Given the description of an element on the screen output the (x, y) to click on. 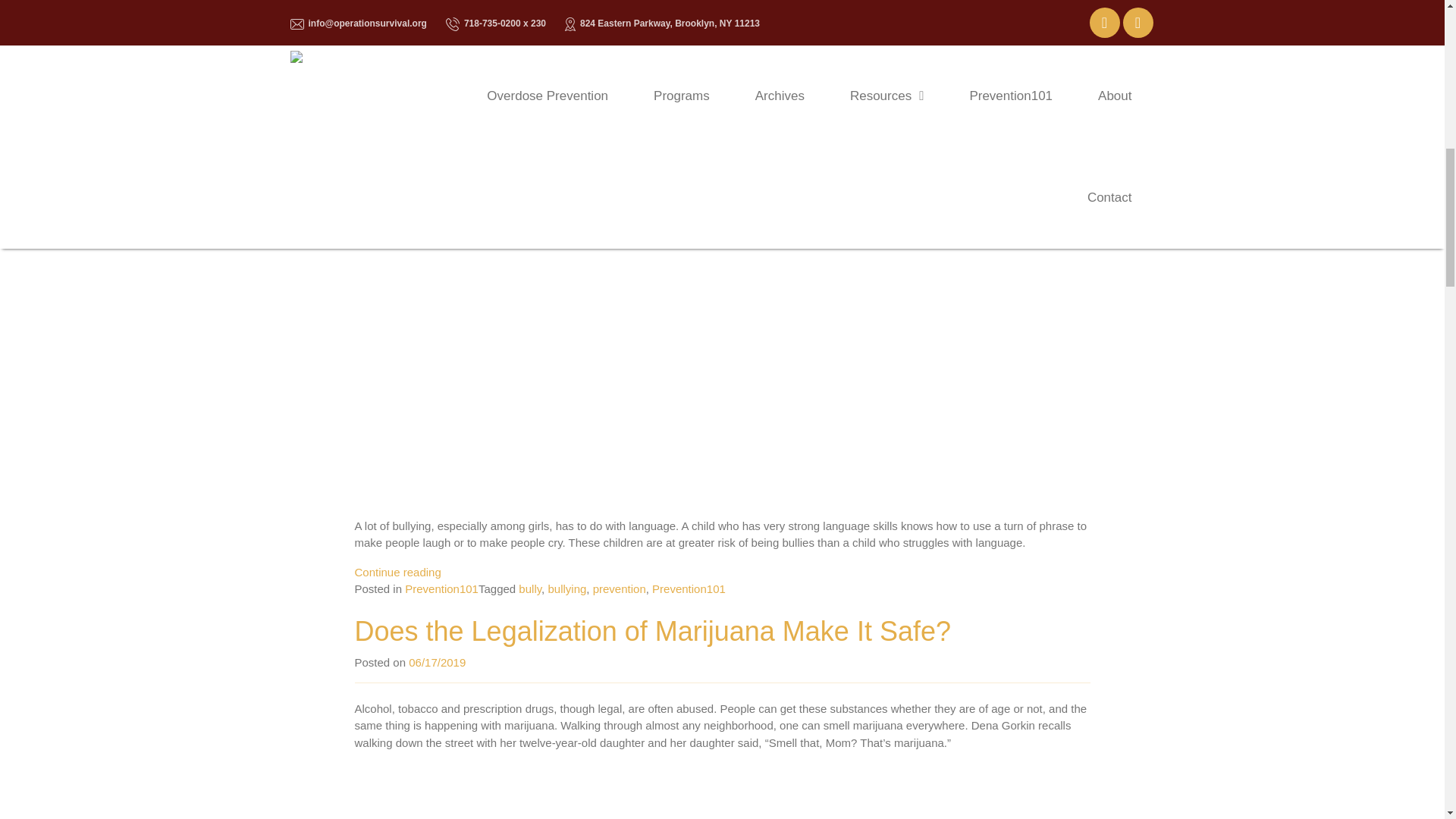
Does the Legalization of Marijuana Make It Safe? (652, 631)
Prevention101 (441, 588)
bully (529, 588)
prevention (619, 588)
Prevention101 (688, 588)
bullying (566, 588)
